Given the description of an element on the screen output the (x, y) to click on. 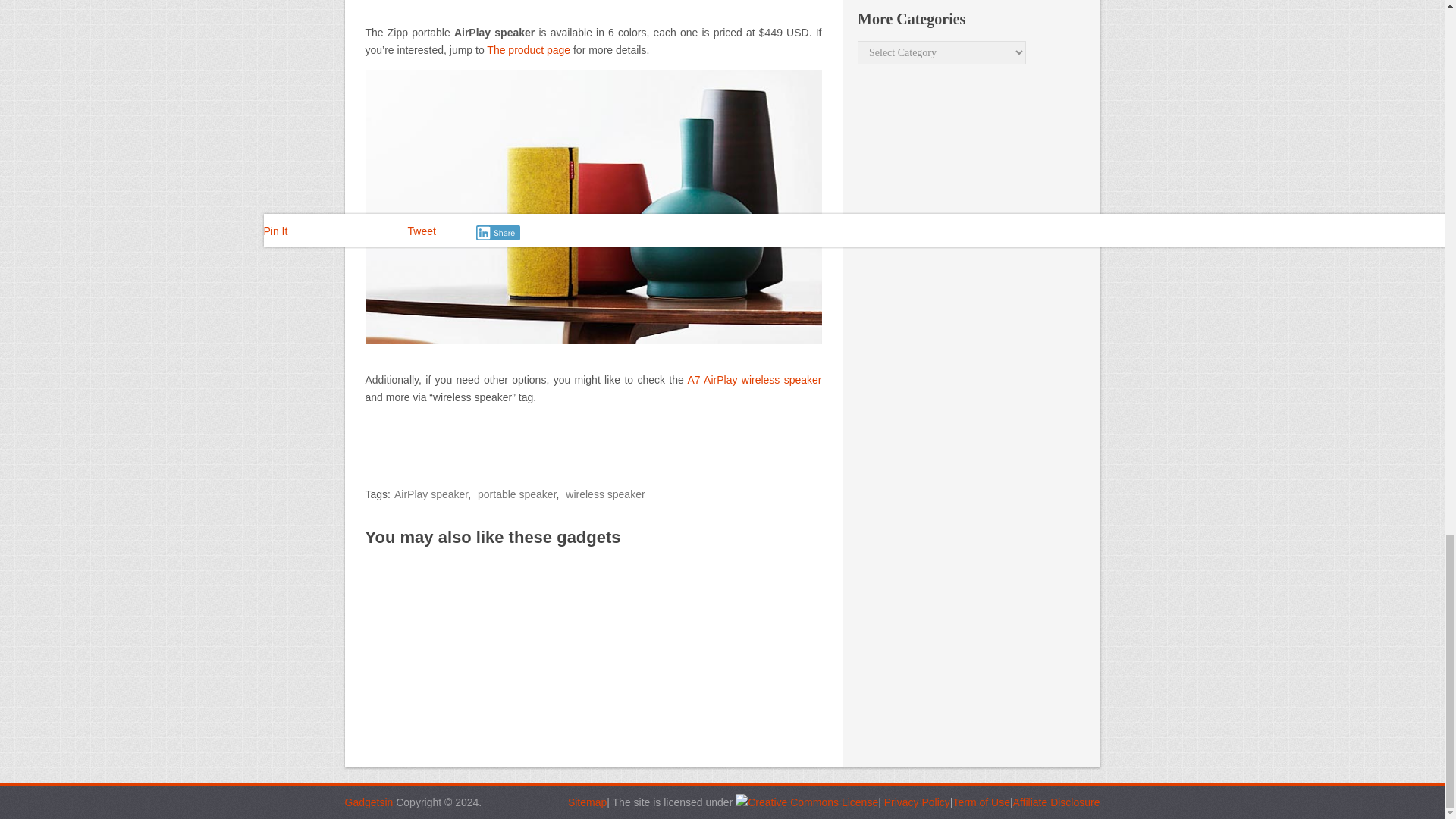
A7 AirPlay wireless speaker (754, 379)
portable speaker (516, 494)
The product page (528, 50)
wireless speaker (605, 494)
AirPlay speaker (430, 494)
